Given the description of an element on the screen output the (x, y) to click on. 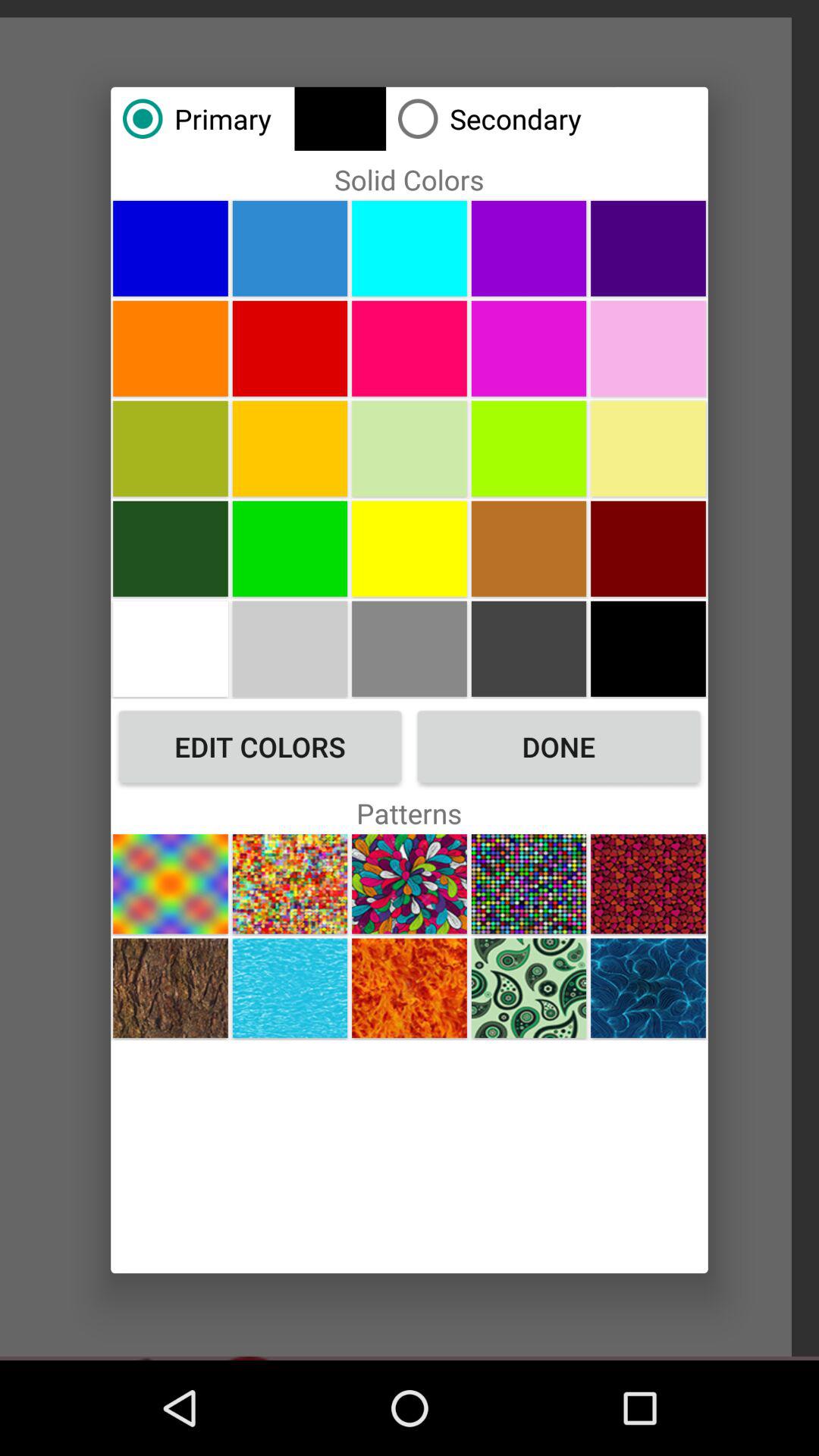
choose a pattern (647, 987)
